Given the description of an element on the screen output the (x, y) to click on. 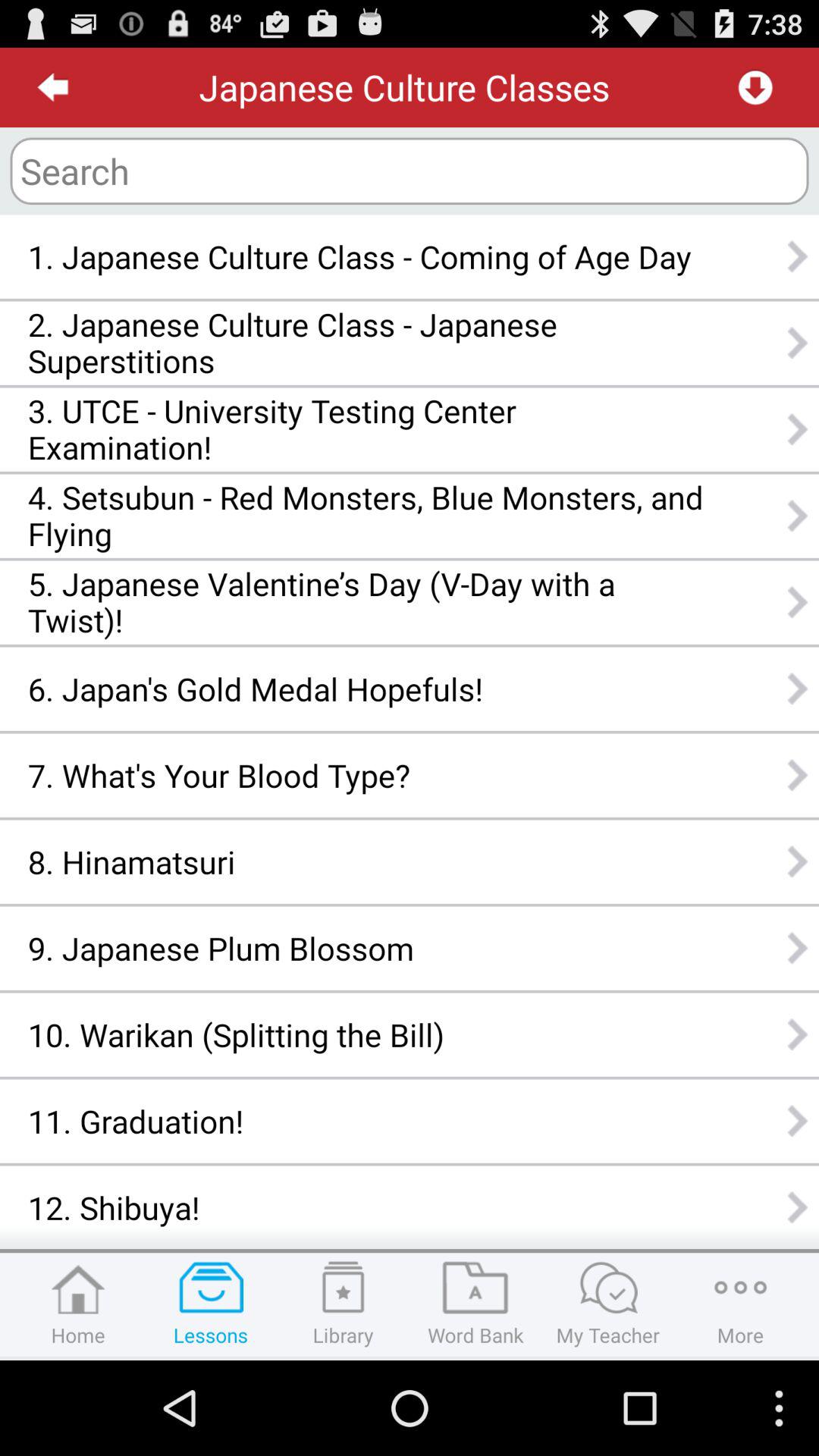
tap the 12. shibuya! icon (365, 1206)
